Given the description of an element on the screen output the (x, y) to click on. 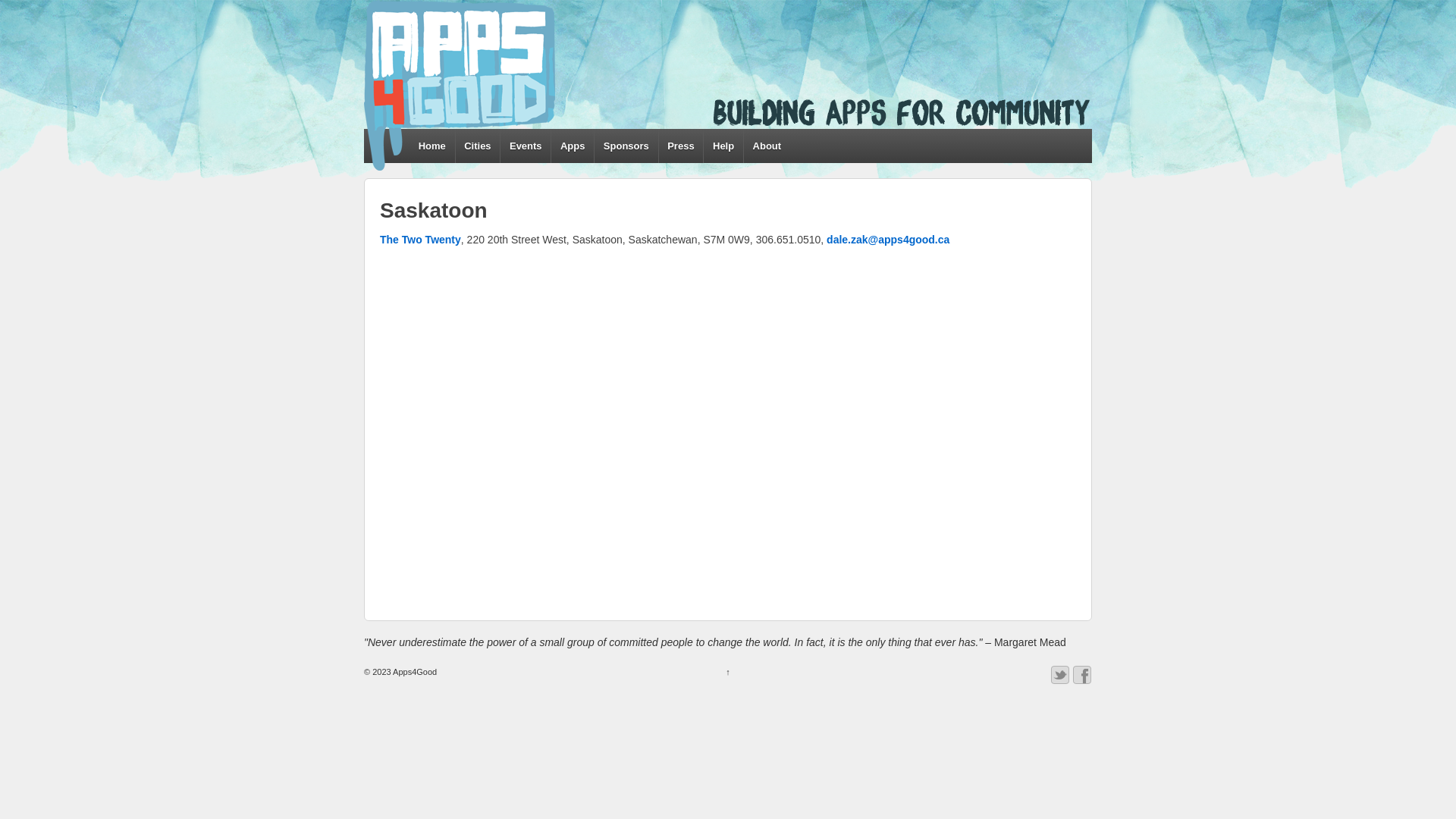
About Element type: text (766, 145)
Sponsors Element type: text (625, 145)
dale.zak@apps4good.ca Element type: text (887, 239)
Apps4Good Element type: text (414, 671)
Press Element type: text (680, 145)
Apps Element type: text (571, 145)
Help Element type: text (722, 145)
The Two Twenty Element type: text (420, 239)
Cities Element type: text (477, 145)
Events Element type: text (524, 145)
Home Element type: text (432, 145)
